Given the description of an element on the screen output the (x, y) to click on. 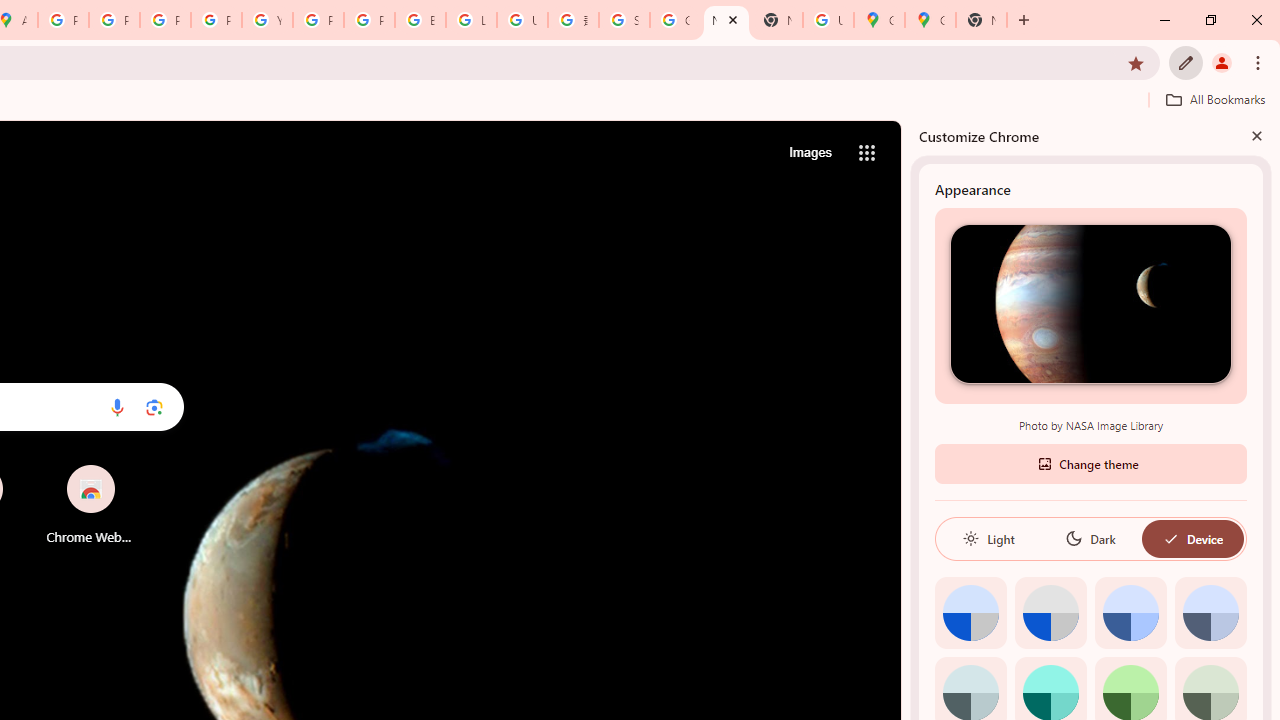
Grey default color (1050, 612)
Default color (970, 612)
Privacy Help Center - Policies Help (164, 20)
Device (1192, 538)
Privacy Help Center - Policies Help (113, 20)
Remove (130, 466)
